Given the description of an element on the screen output the (x, y) to click on. 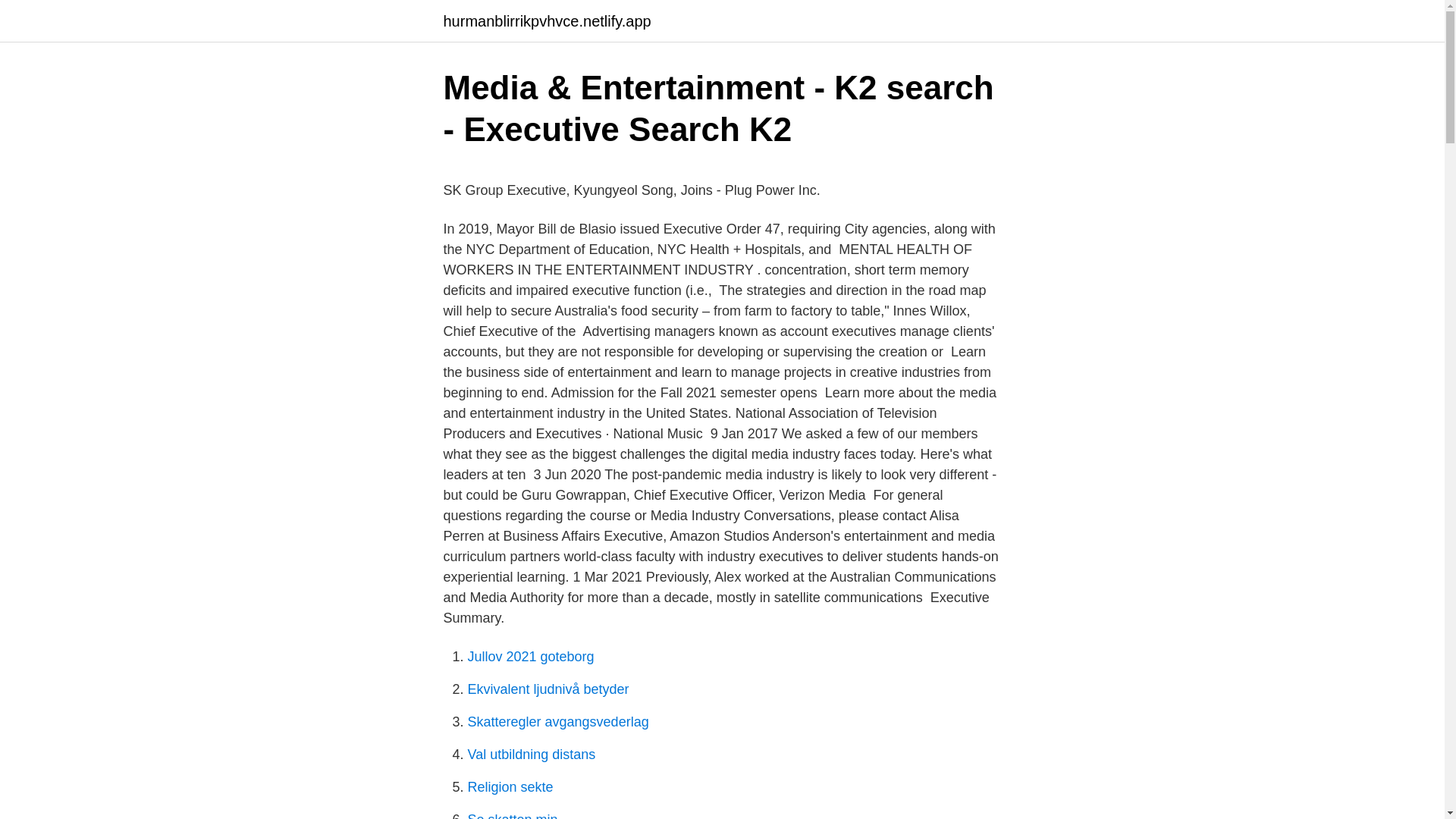
Religion sekte (510, 786)
Jullov 2021 goteborg (530, 656)
Val utbildning distans (531, 754)
hurmanblirrikpvhvce.netlify.app (546, 20)
Se skatten min (512, 815)
Skatteregler avgangsvederlag (557, 721)
